Given the description of an element on the screen output the (x, y) to click on. 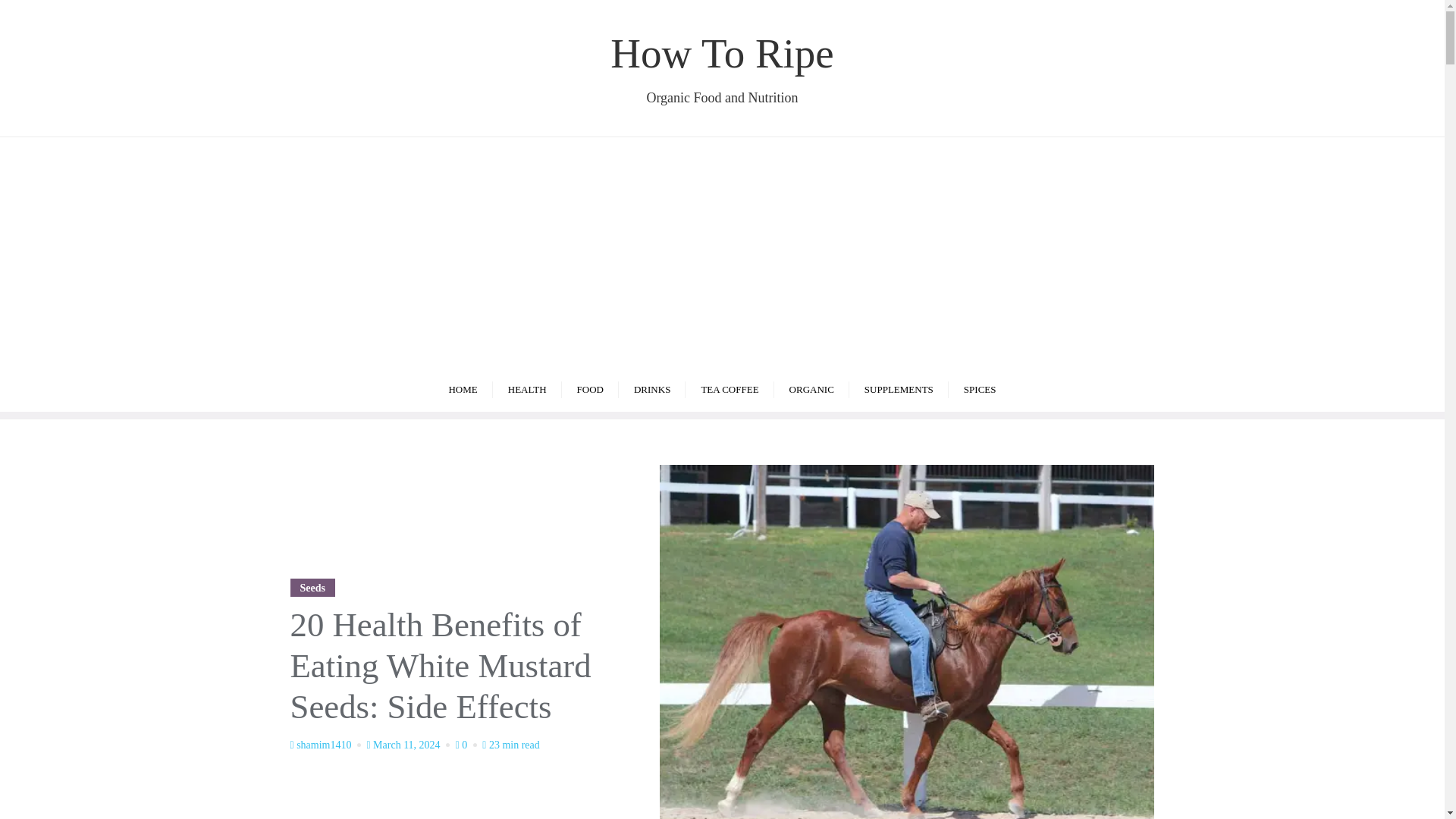
Seeds (311, 587)
23 min read (510, 745)
0 (722, 66)
TEA COFFEE (467, 745)
HEALTH (729, 387)
shamim1410 (527, 387)
FOOD (325, 745)
ORGANIC (590, 387)
HOME (811, 387)
March 11, 2024 (462, 387)
DRINKS (409, 745)
SPICES (651, 387)
SUPPLEMENTS (980, 387)
